Given the description of an element on the screen output the (x, y) to click on. 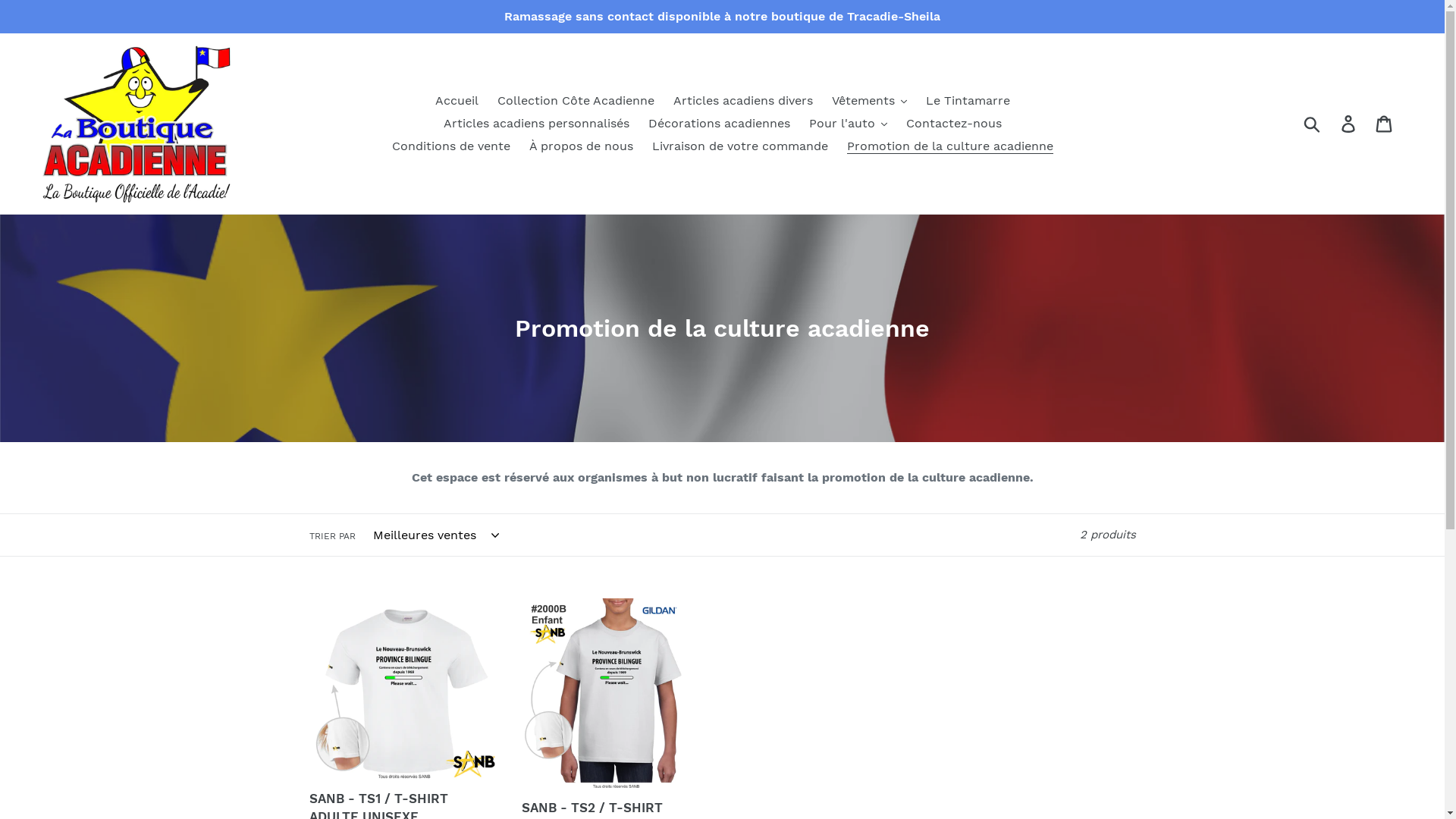
Contactez-nous Element type: text (952, 123)
Panier Element type: text (1384, 123)
Soumettre Element type: text (1312, 123)
Livraison de votre commande Element type: text (739, 145)
Promotion de la culture acadienne Element type: text (949, 145)
Articles acadiens divers Element type: text (742, 100)
Conditions de vente Element type: text (450, 145)
Accueil Element type: text (456, 100)
Se connecter Element type: text (1349, 123)
Le Tintamarre Element type: text (966, 100)
